Given the description of an element on the screen output the (x, y) to click on. 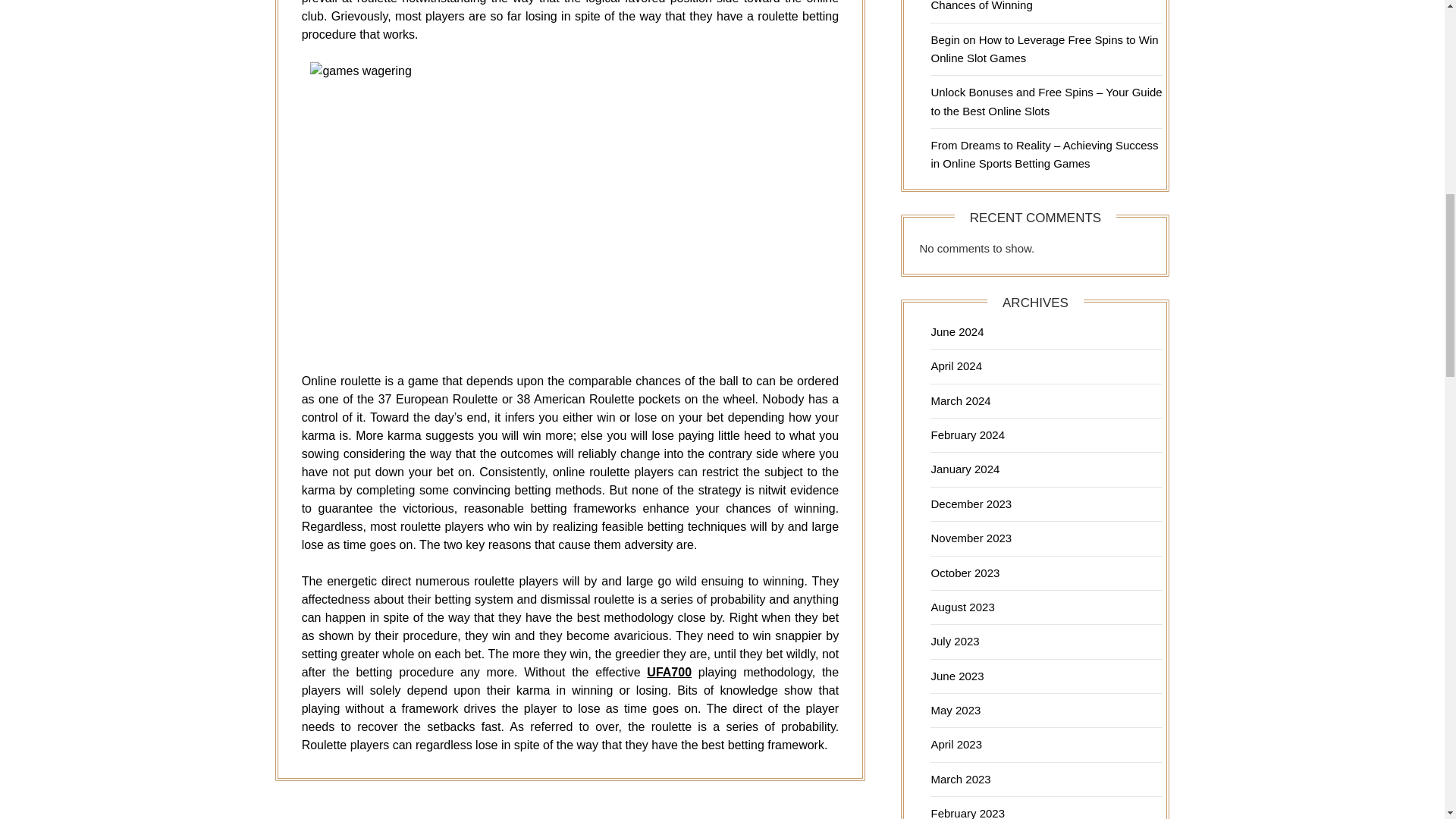
January 2024 (964, 468)
May 2023 (954, 709)
August 2023 (962, 606)
November 2023 (970, 537)
UFA700 (668, 671)
June 2023 (957, 675)
April 2023 (955, 744)
March 2023 (960, 779)
March 2024 (960, 400)
December 2023 (970, 503)
April 2024 (955, 365)
February 2023 (967, 812)
July 2023 (954, 640)
Begin on How to Leverage Free Spins to Win Online Slot Games (1043, 48)
February 2024 (967, 434)
